Given the description of an element on the screen output the (x, y) to click on. 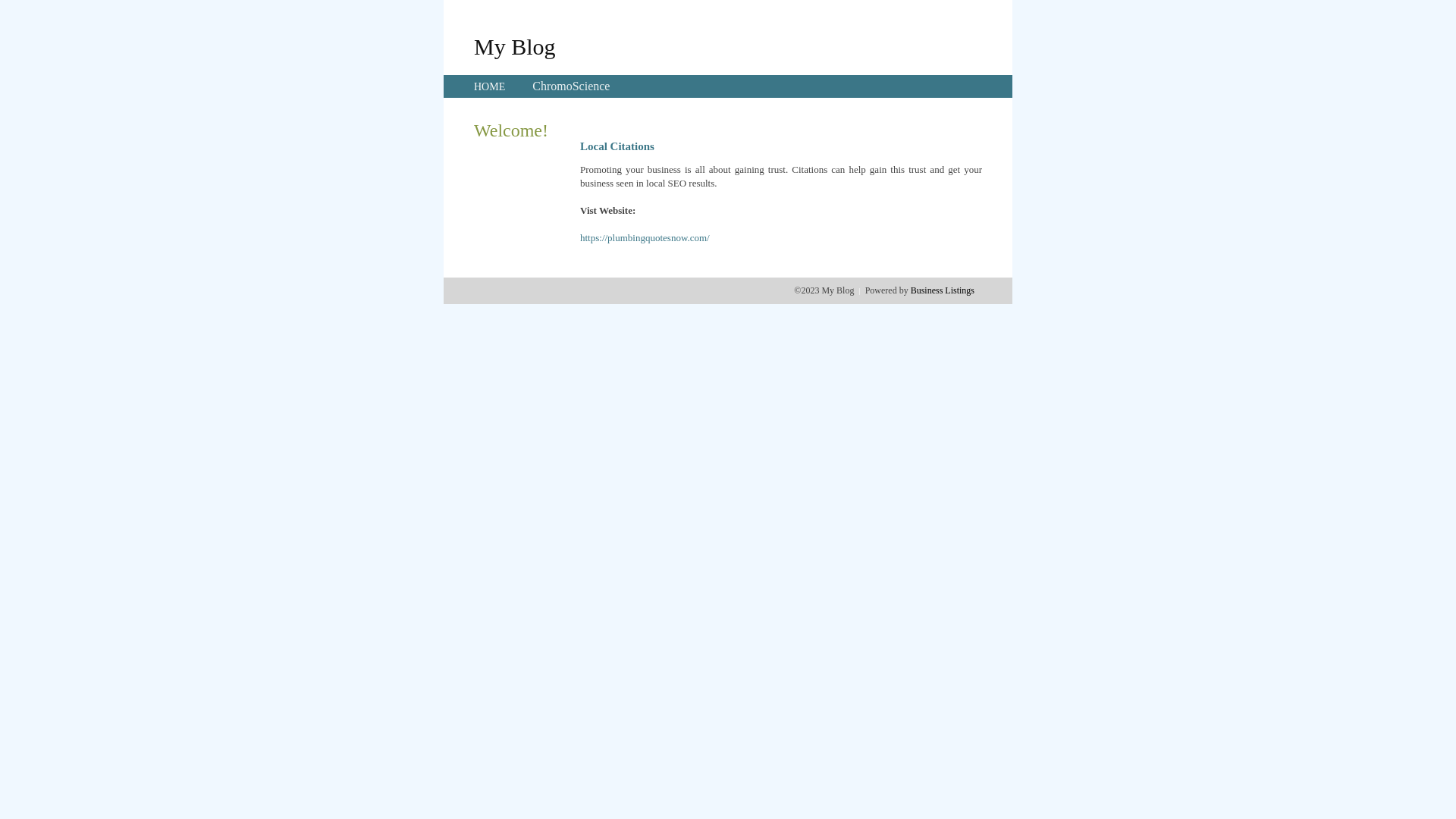
My Blog Element type: text (514, 46)
https://plumbingquotesnow.com/ Element type: text (644, 237)
HOME Element type: text (489, 86)
ChromoScience Element type: text (570, 85)
Business Listings Element type: text (942, 290)
